Given the description of an element on the screen output the (x, y) to click on. 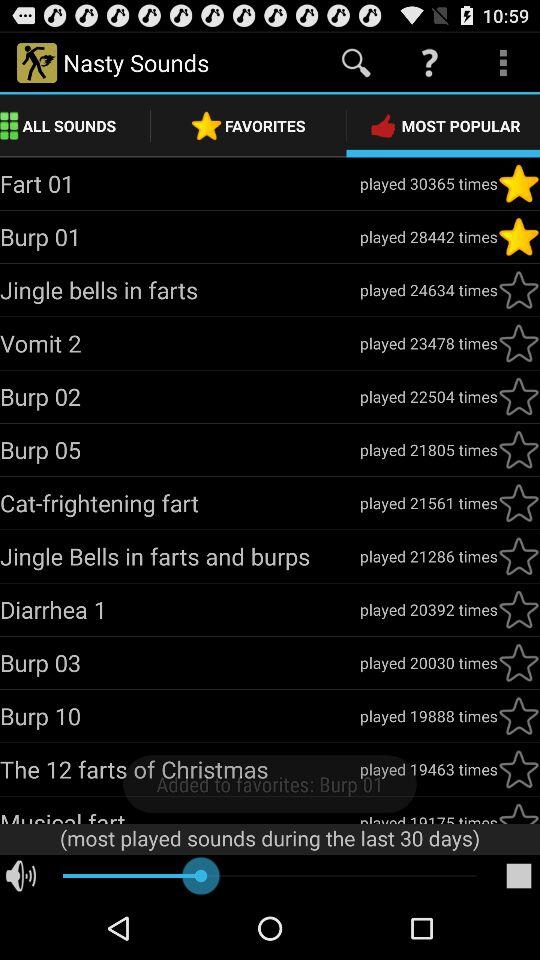
add to favorite (519, 343)
